Given the description of an element on the screen output the (x, y) to click on. 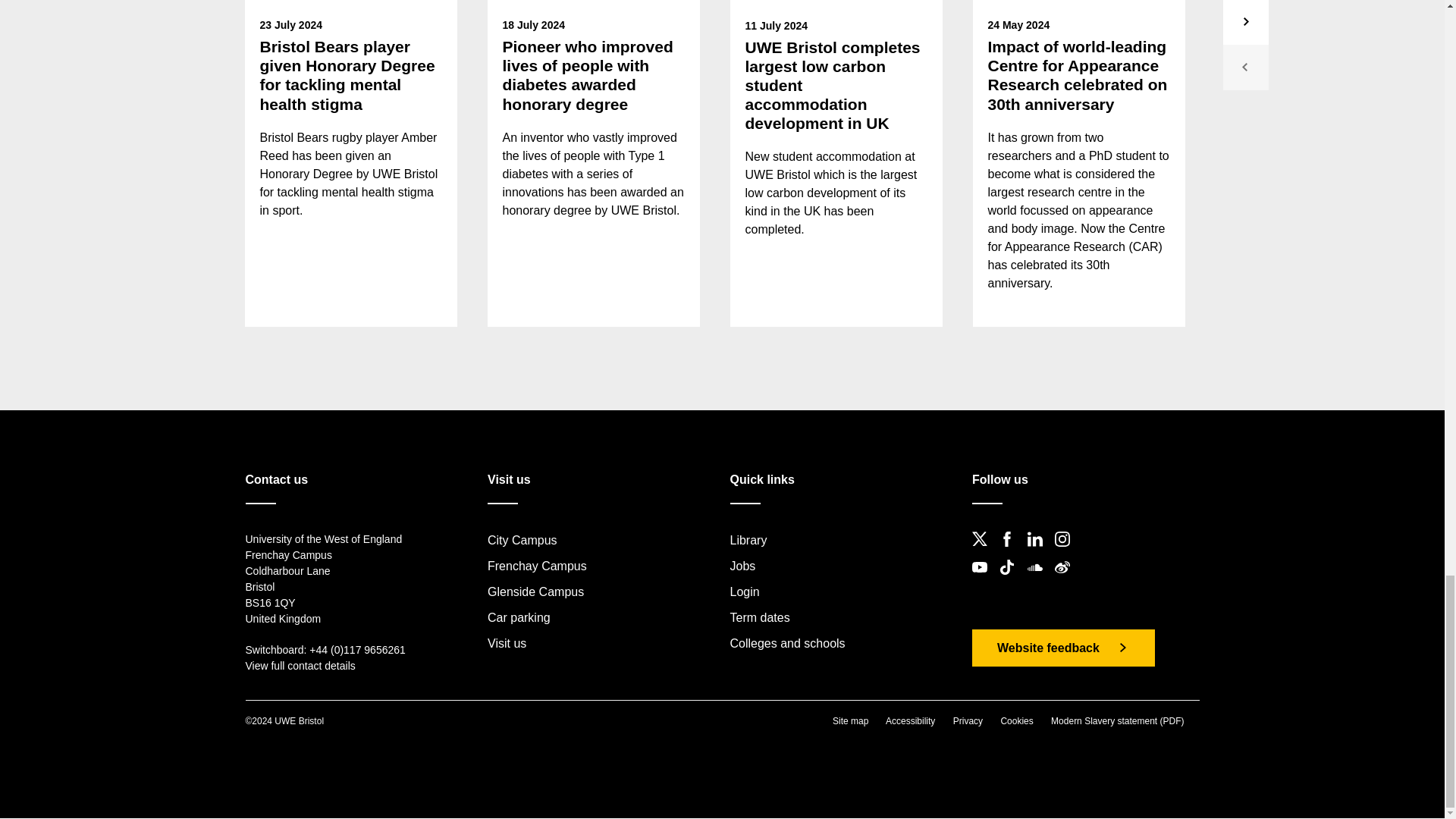
LinkedIn (1039, 551)
YouTube (983, 579)
Instagram (1066, 551)
TikTok (1010, 579)
SoundCloud (1039, 579)
Twitter (983, 551)
Facebook (1010, 551)
Weibo (1066, 579)
